Given the description of an element on the screen output the (x, y) to click on. 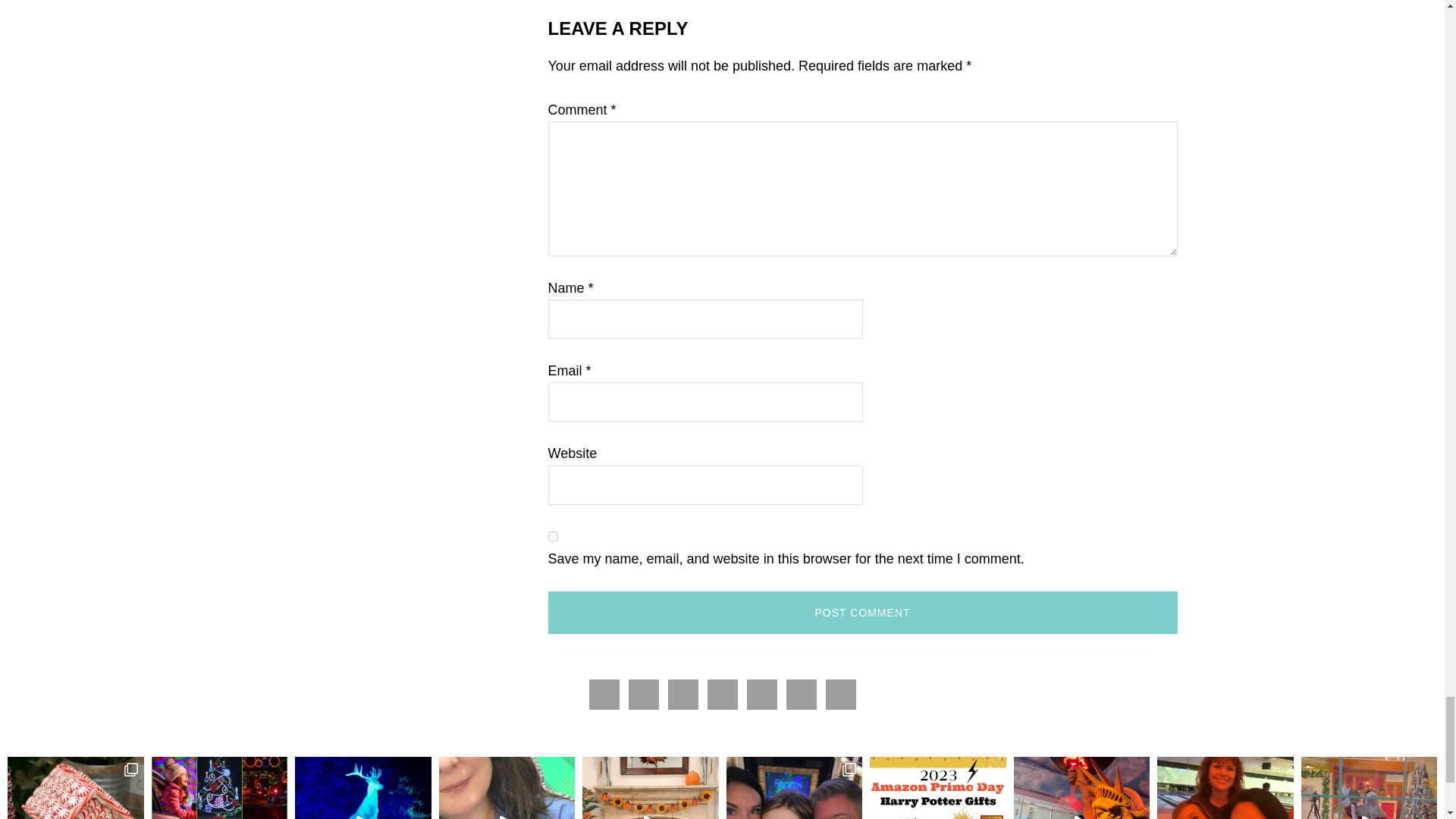
Post Comment (861, 612)
yes (552, 535)
